Given the description of an element on the screen output the (x, y) to click on. 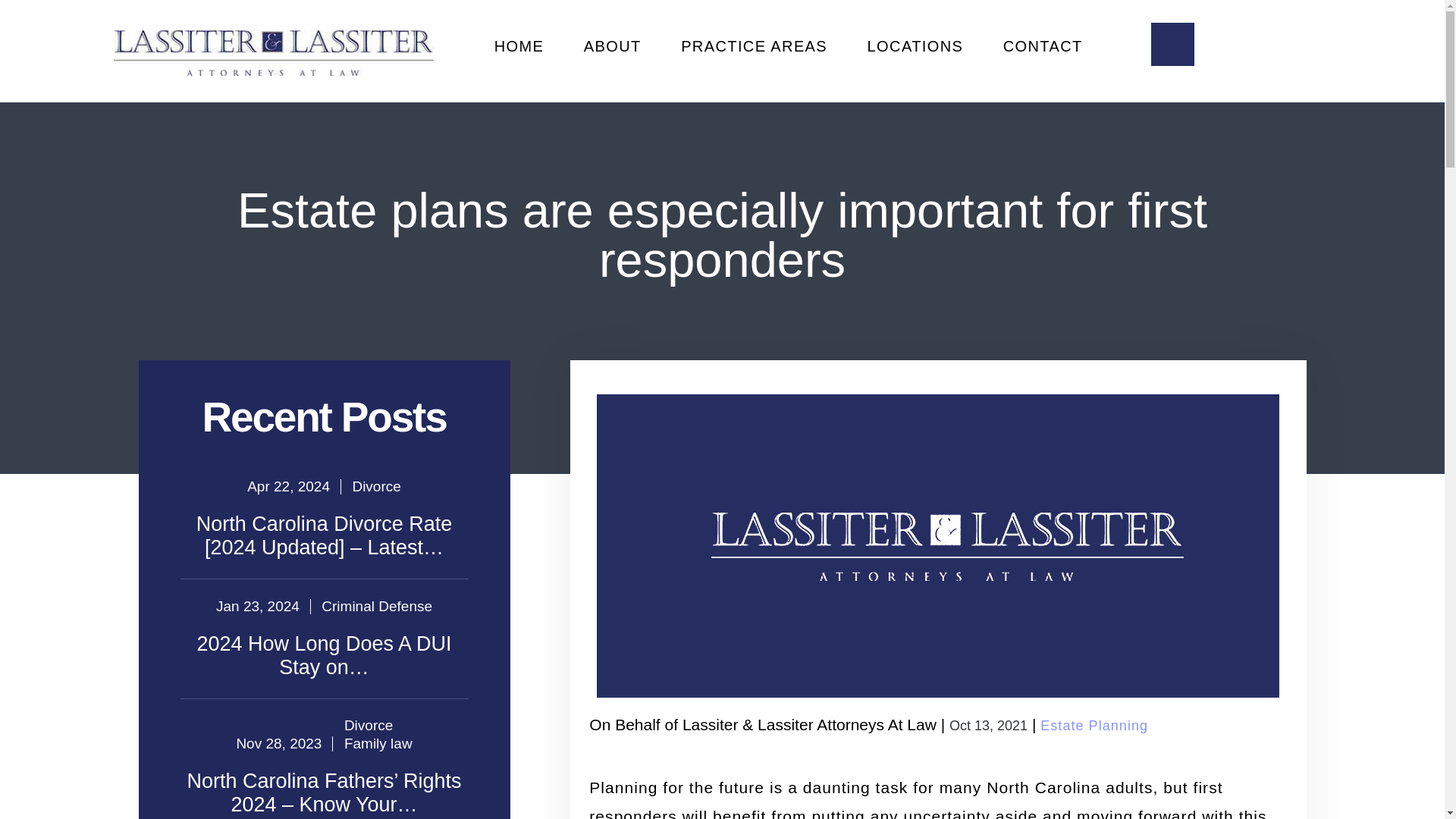
HOME (519, 45)
CONTACT (1043, 45)
704-873-2295 (1320, 54)
ABOUT (612, 45)
PRACTICE AREAS (753, 45)
LOCATIONS (915, 45)
